Given the description of an element on the screen output the (x, y) to click on. 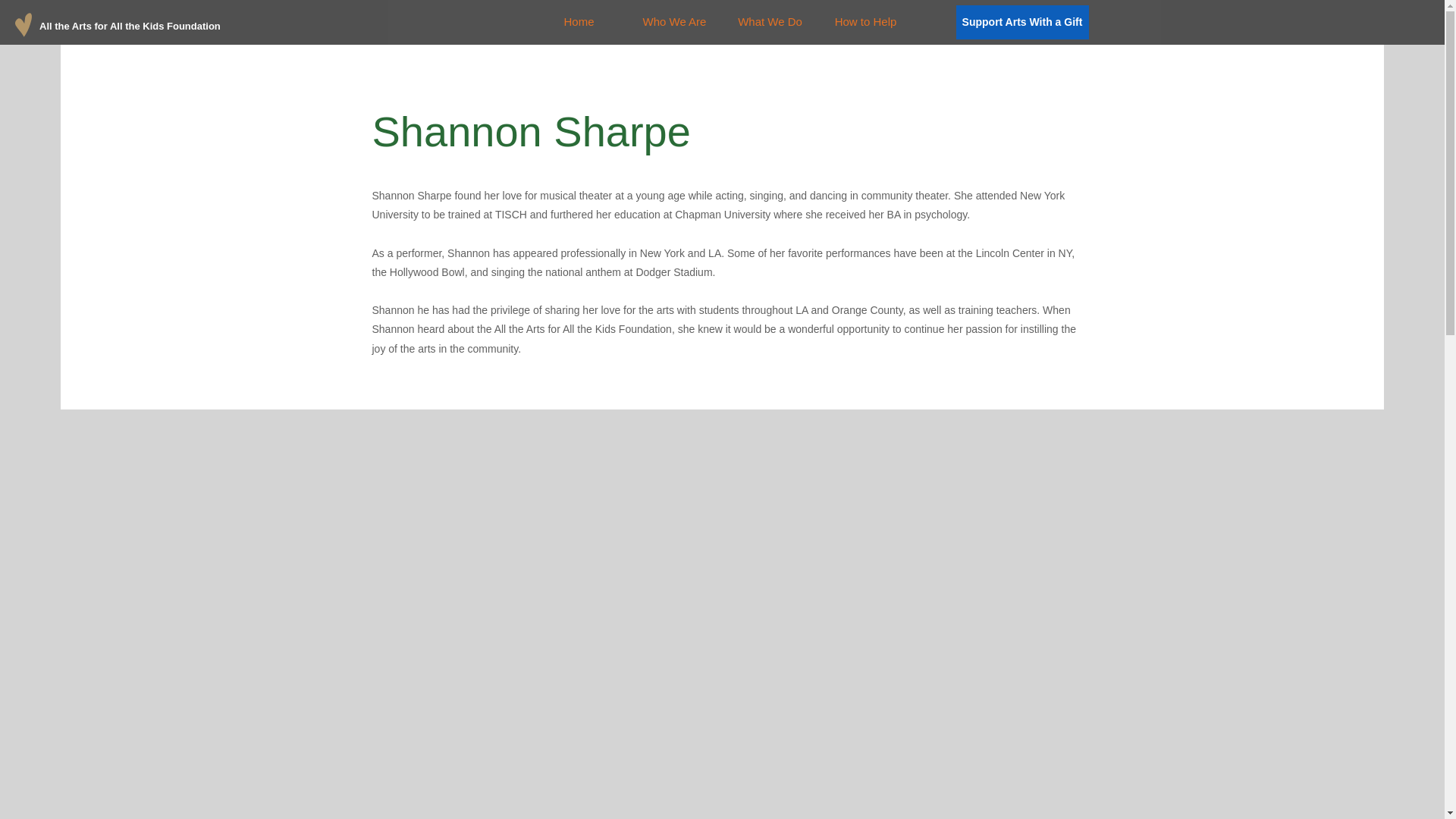
How to Help (864, 21)
All the Arts for All the Kids Foundation (132, 26)
Home (578, 21)
Who We Are (674, 21)
What We Do (769, 21)
Support Arts With a Gift (1021, 21)
